Given the description of an element on the screen output the (x, y) to click on. 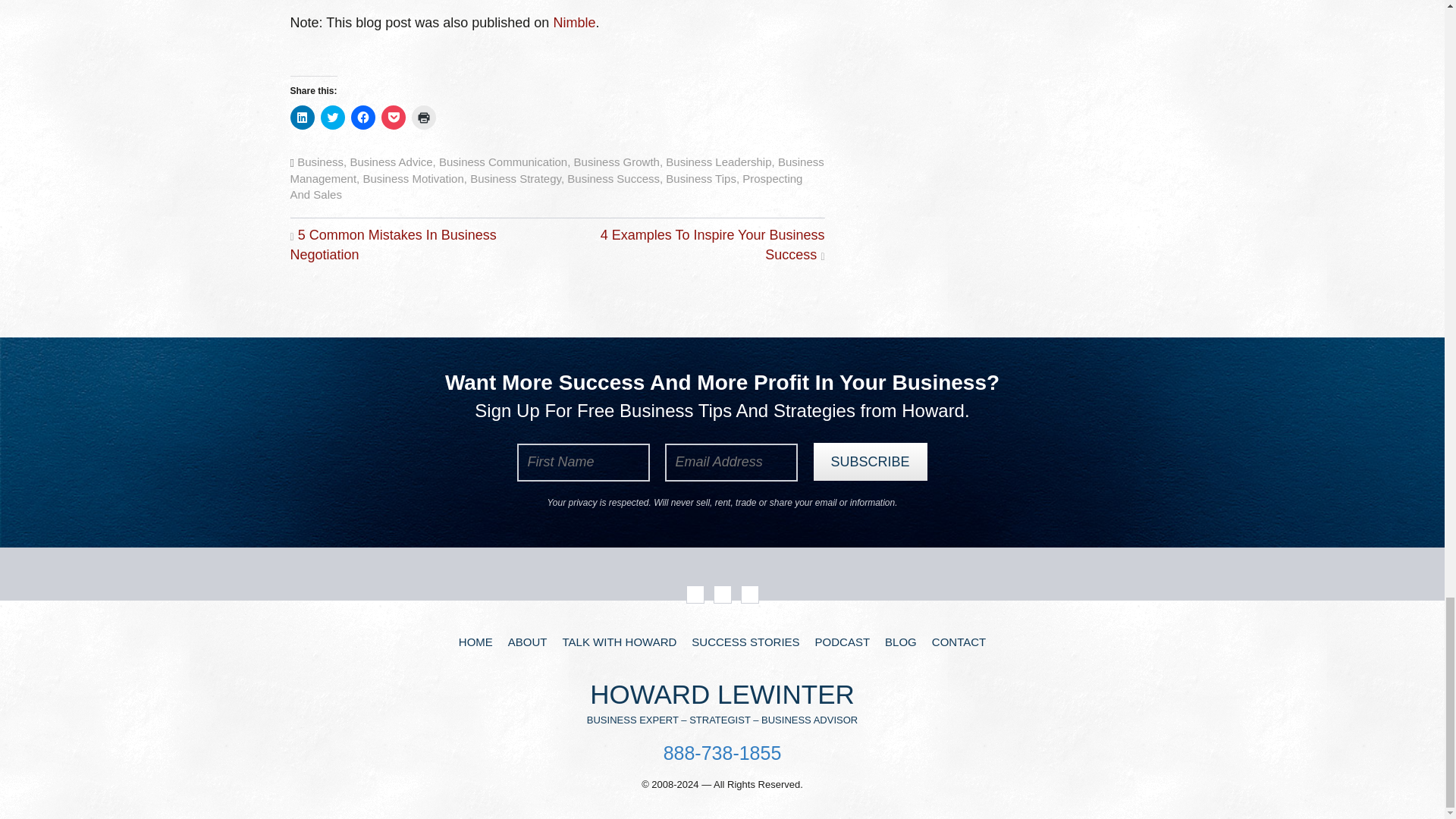
Click to share on Twitter (331, 117)
Nimble (574, 22)
Business Success (613, 178)
Subscribe (869, 461)
Business Tips (700, 178)
Business (320, 161)
Prospecting And Sales (545, 185)
5 Common Mistakes In Business Negotiation (392, 244)
Business Communication (503, 161)
Business Leadership (718, 161)
Business Advice (390, 161)
Click to share on Pocket (392, 117)
3 Words To Eliminate From Your Business Vocabulary (574, 22)
4 Examples To Inspire Your Business Success (712, 244)
Click to print (422, 117)
